Given the description of an element on the screen output the (x, y) to click on. 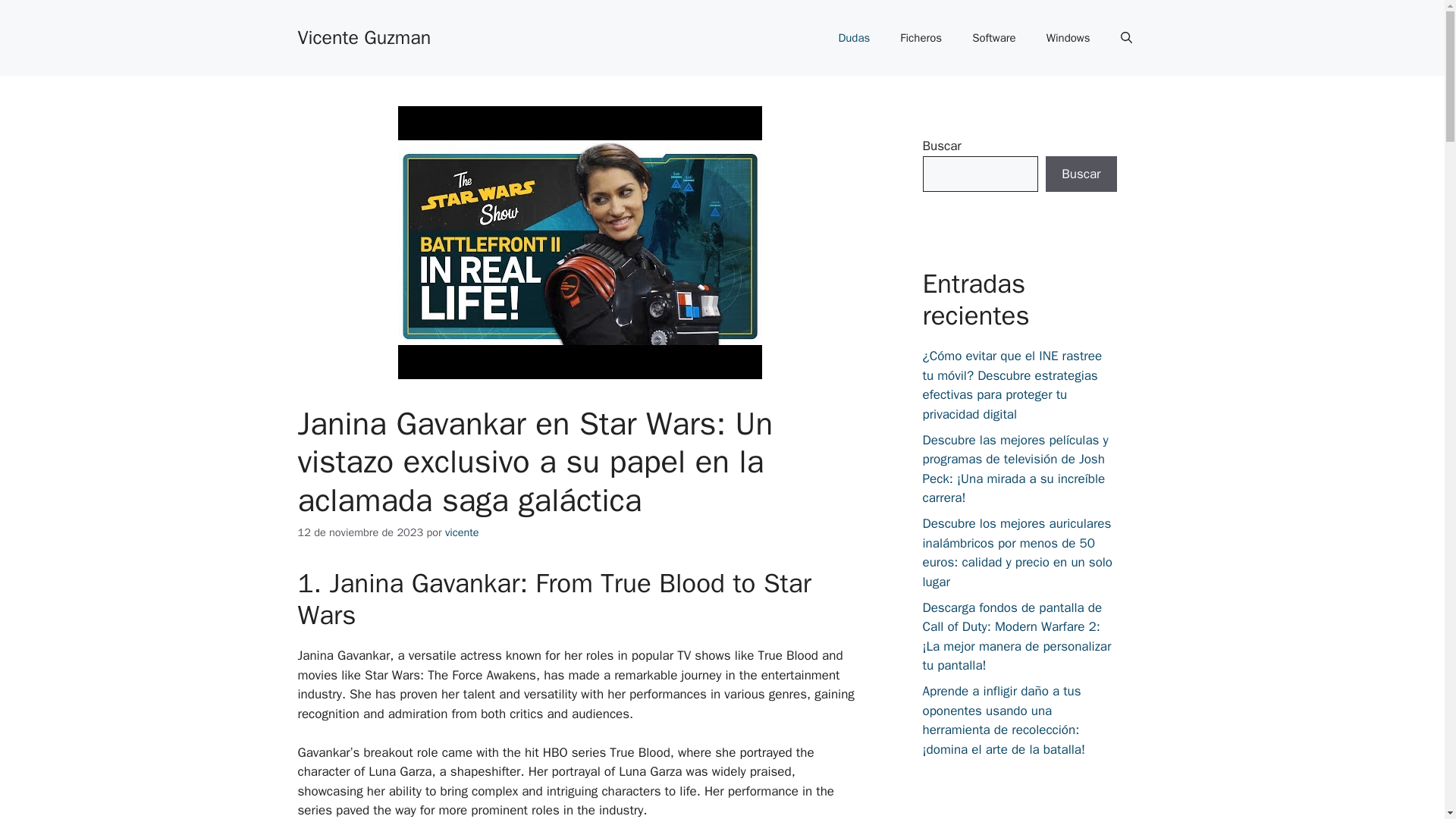
Dudas (853, 37)
Windows (1067, 37)
Ver todas las entradas de vicente (462, 531)
Buscar (1080, 174)
Software (993, 37)
Ficheros (920, 37)
Vicente Guzman (363, 37)
vicente (462, 531)
